Given the description of an element on the screen output the (x, y) to click on. 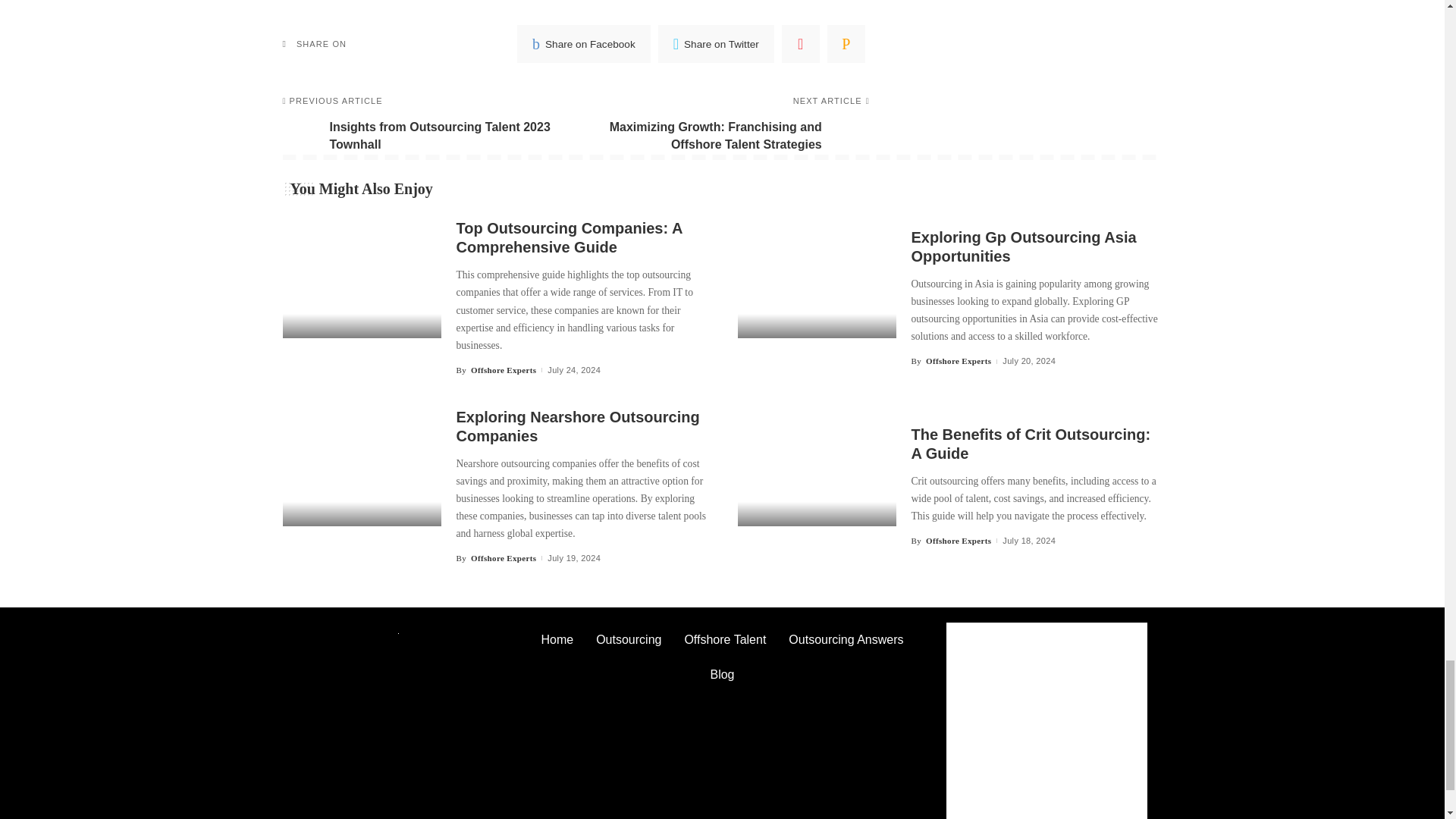
Share on Twitter (716, 44)
Share on Facebook (583, 44)
